Given the description of an element on the screen output the (x, y) to click on. 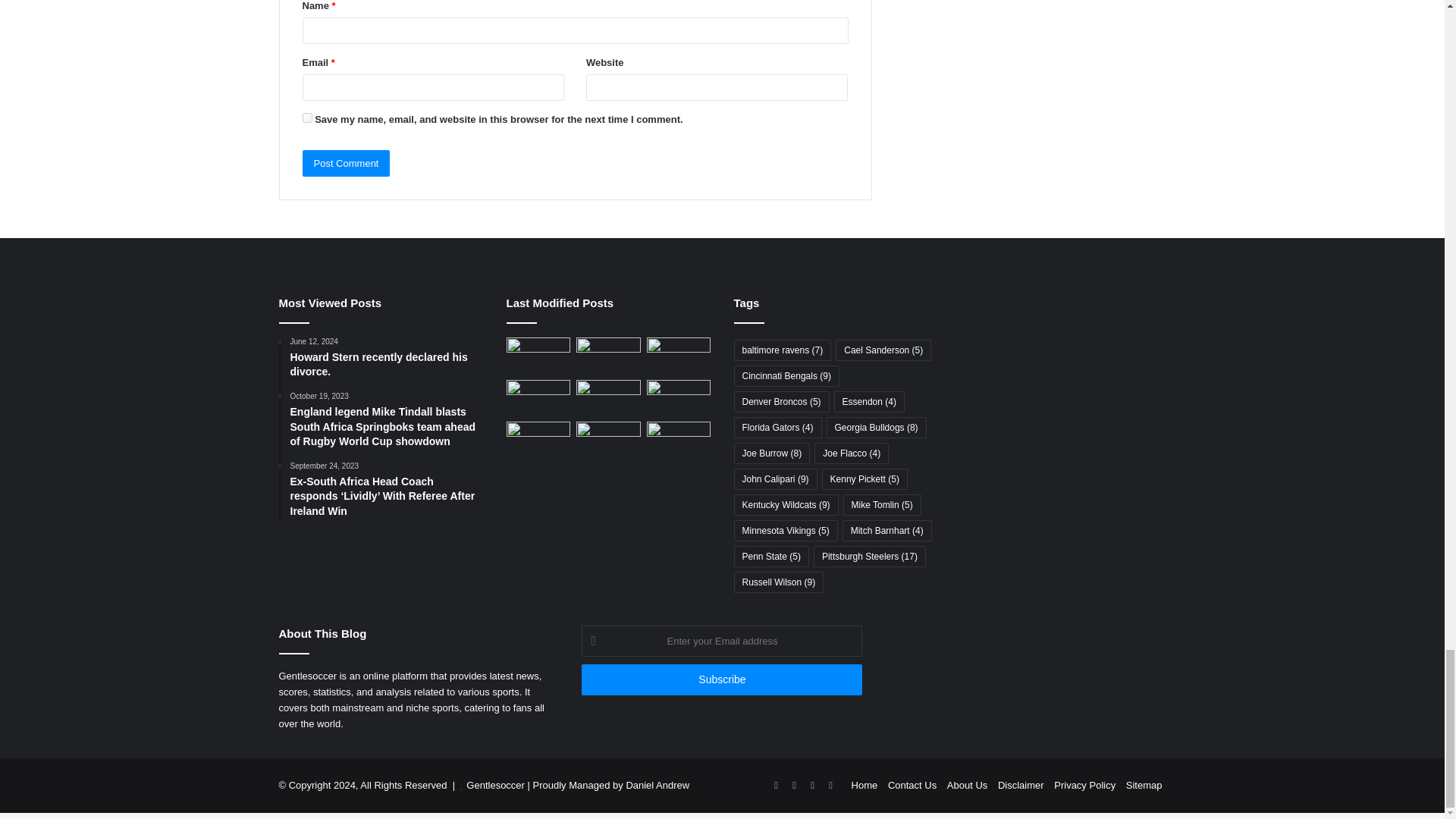
Subscribe (720, 679)
Post Comment (345, 162)
yes (306, 117)
